Given the description of an element on the screen output the (x, y) to click on. 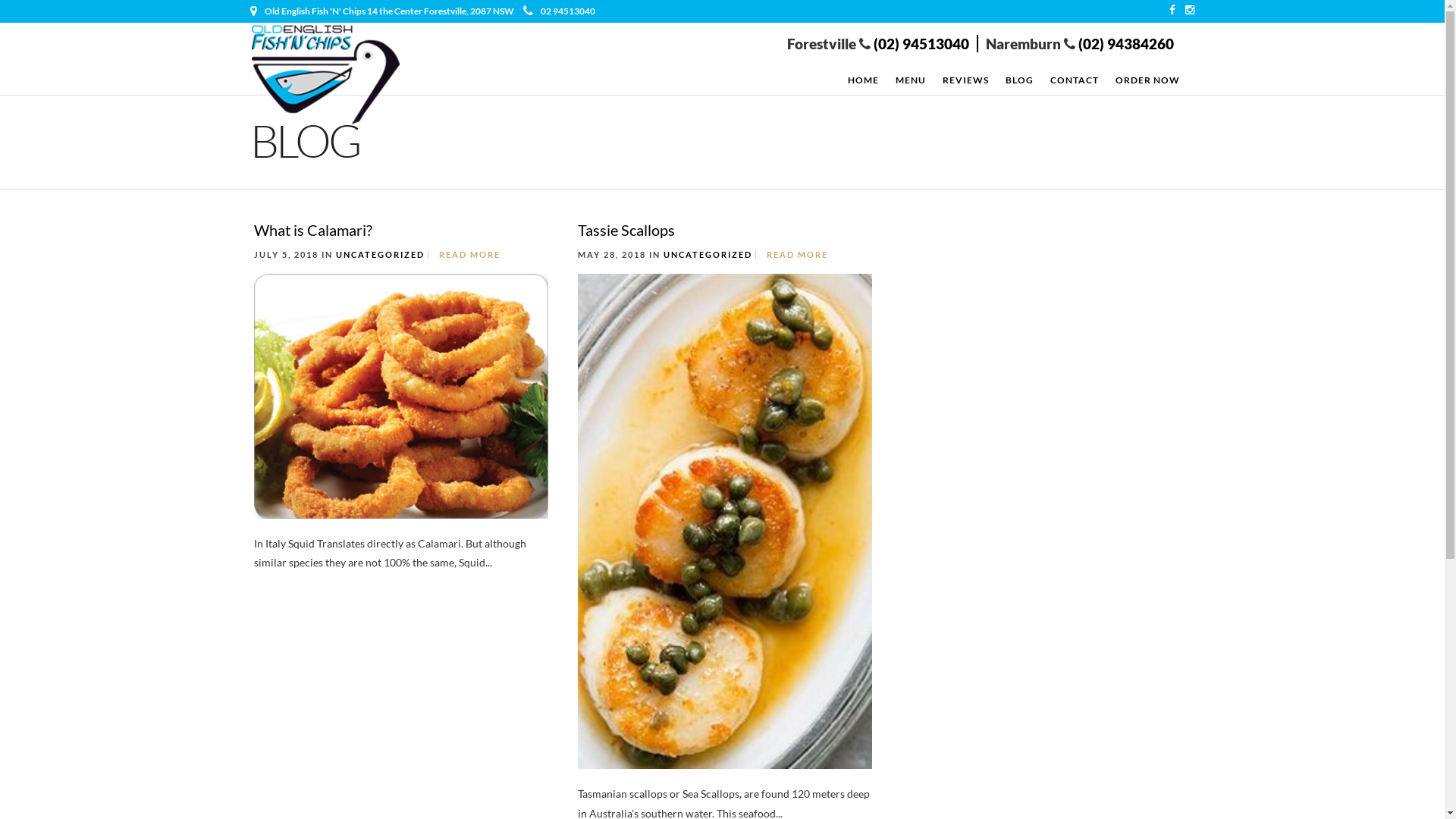
READ MORE Element type: text (797, 254)
(02) 94513040 Element type: text (921, 43)
Instagram Element type: hover (1189, 9)
CONTACT Element type: text (1074, 80)
UNCATEGORIZED Element type: text (379, 254)
READ MORE Element type: text (469, 254)
02 94513040 Element type: text (559, 10)
UNCATEGORIZED Element type: text (707, 254)
What is Calamari? Element type: text (313, 229)
ORDER NOW Element type: text (1147, 80)
REVIEWS Element type: text (965, 80)
HOME Element type: text (862, 80)
(02) 94384260 Element type: text (1124, 43)
MENU Element type: text (910, 80)
BLOG Element type: text (1019, 80)
Tassie Scallops Element type: text (625, 229)
